Given the description of an element on the screen output the (x, y) to click on. 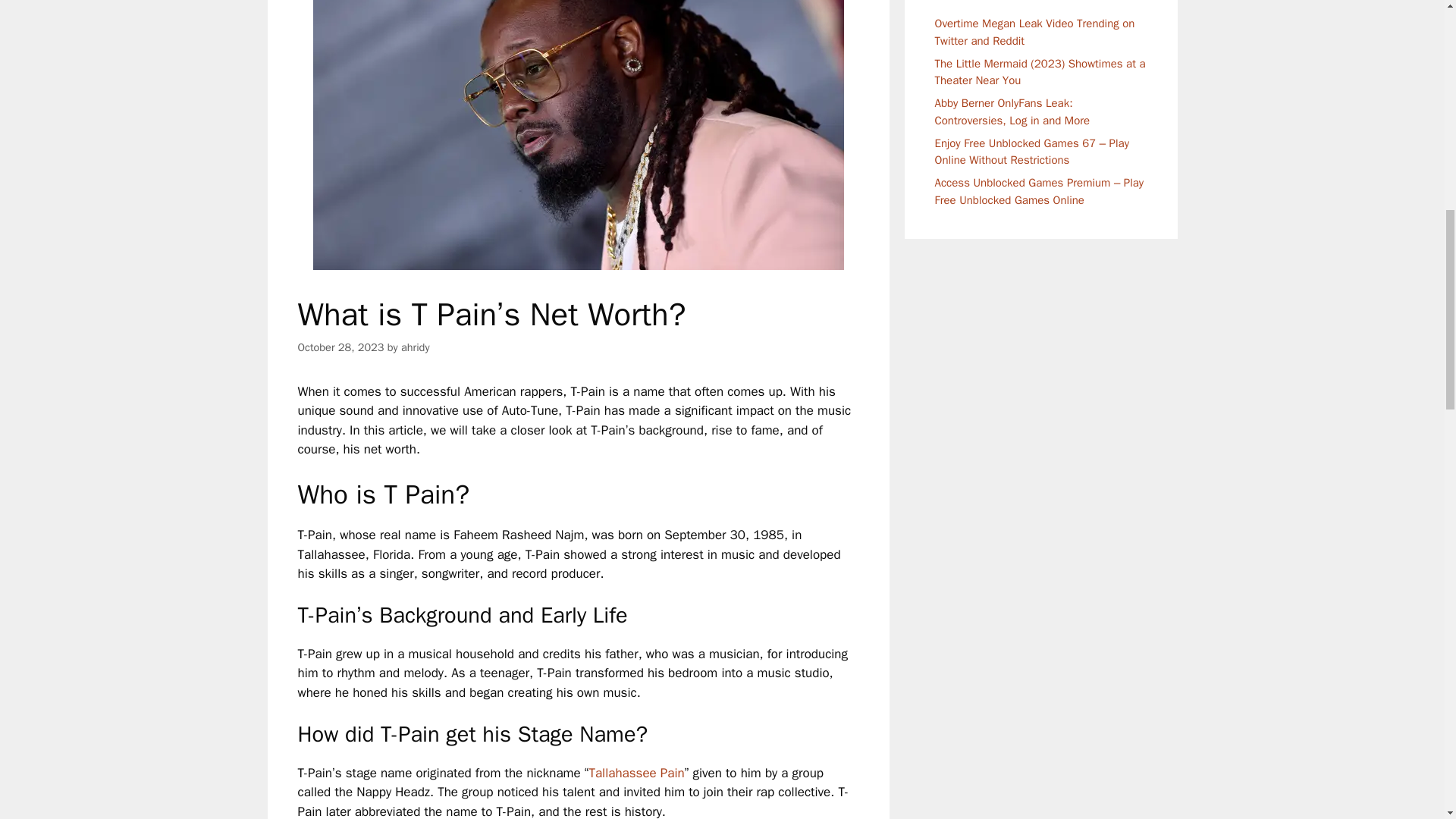
Scroll back to top (1406, 720)
ahridy (415, 346)
View all posts by ahridy (415, 346)
Tallahassee Pain (636, 772)
Overtime Megan Leak Video Trending on Twitter and Reddit (1034, 31)
